Given the description of an element on the screen output the (x, y) to click on. 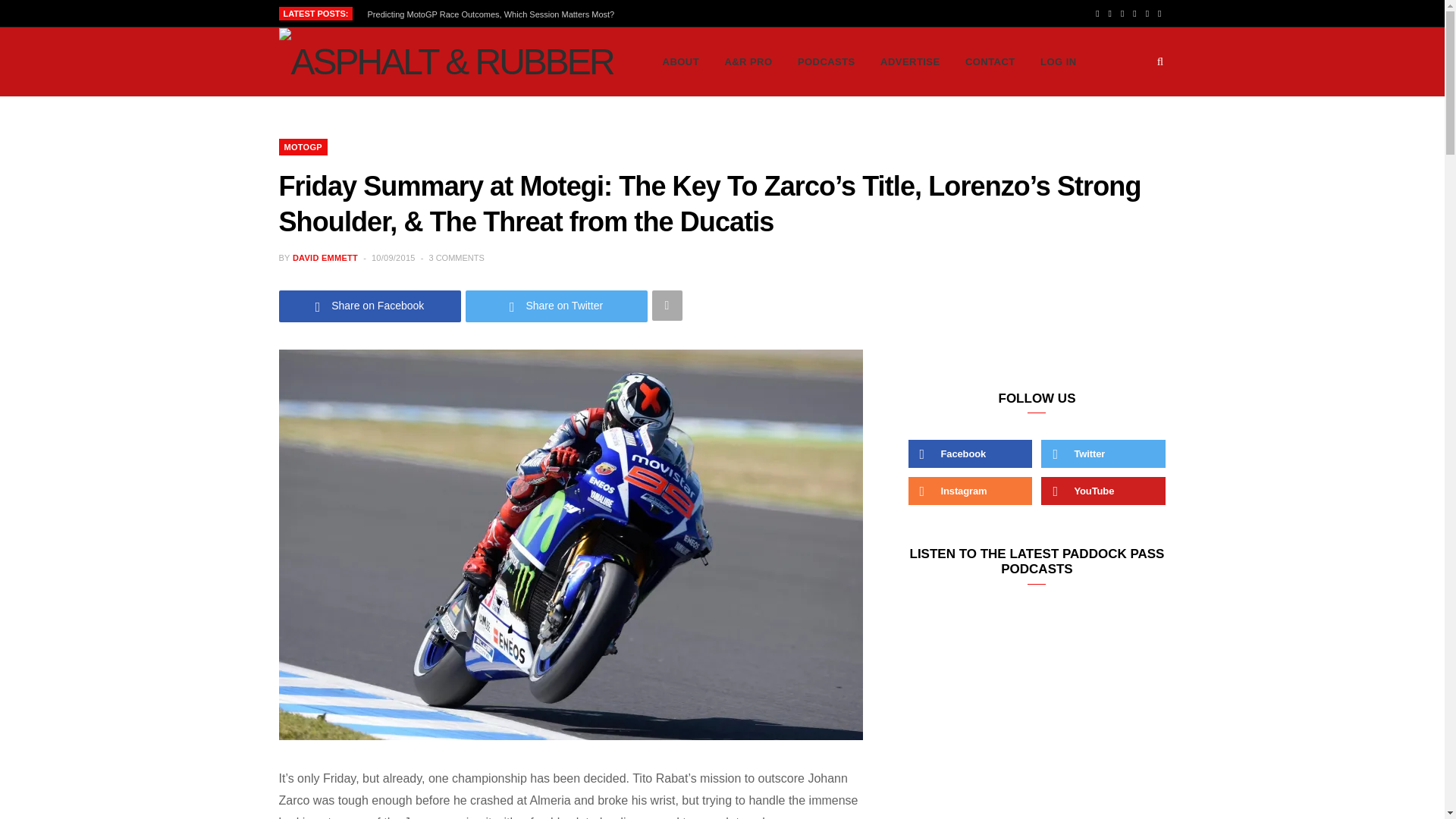
DAVID EMMETT (325, 257)
Facebook (1096, 13)
RSS (1134, 13)
SoundCloud (1159, 13)
Search (1159, 61)
Share on Facebook (370, 305)
ADVERTISE (910, 61)
Twitter (1109, 13)
CONTACT (989, 61)
LOG IN (1058, 61)
Instagram (1122, 13)
3 COMMENTS (455, 257)
MOTOGP (303, 146)
Share on Twitter (556, 305)
Posts by David Emmett (325, 257)
